Given the description of an element on the screen output the (x, y) to click on. 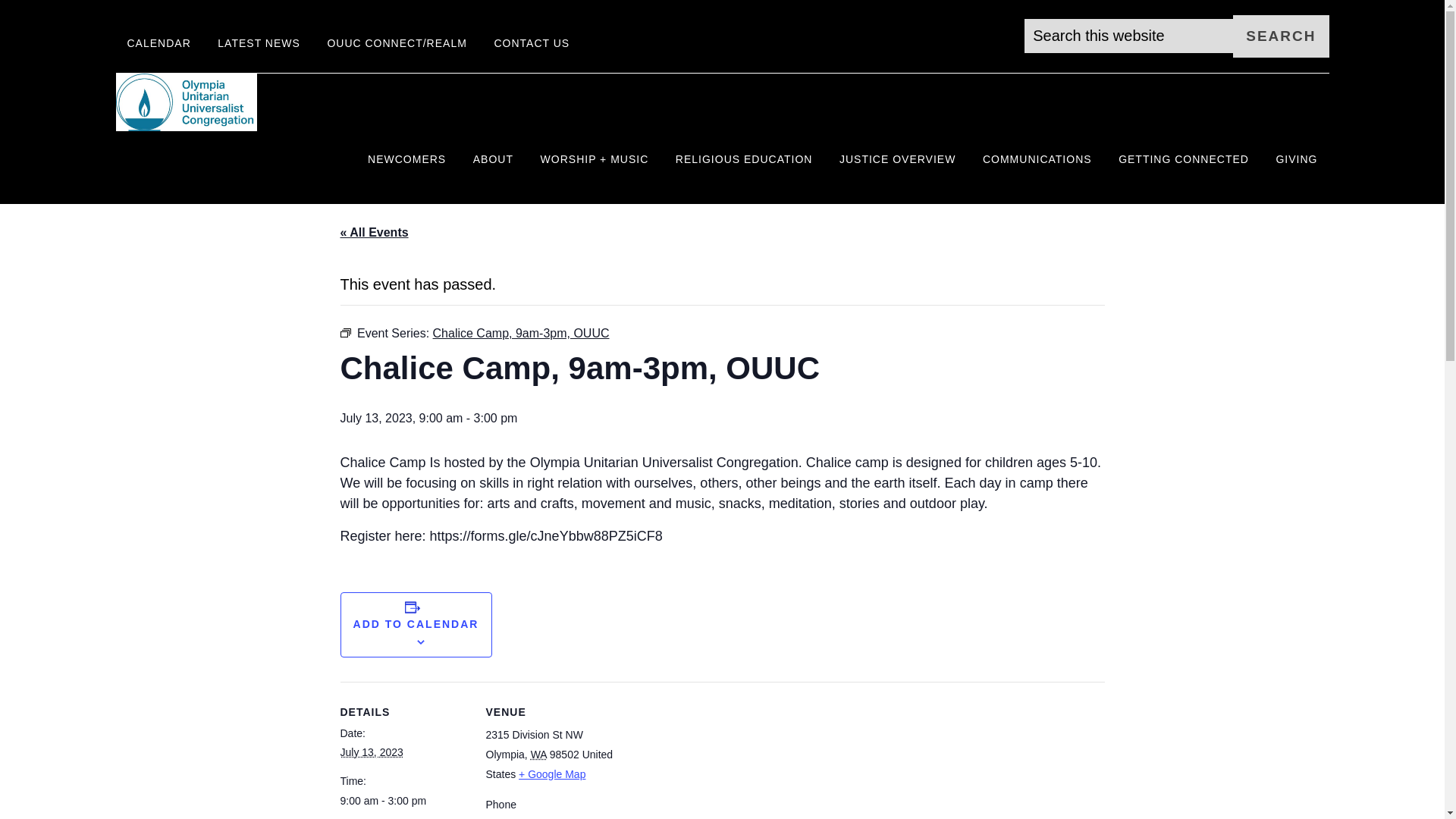
NEWCOMERS (406, 160)
Search (1280, 36)
RELIGIOUS EDUCATION (743, 160)
Google maps iframe displaying the address to  (710, 762)
ABOUT (492, 160)
CONTACT US (530, 43)
2023-07-13 (371, 752)
Search (1280, 36)
CALENDAR (158, 43)
LATEST NEWS (258, 43)
OUUC (251, 102)
Click to view a Google Map (551, 774)
Event Series (344, 332)
Washington (539, 754)
Event Series: (344, 333)
